Given the description of an element on the screen output the (x, y) to click on. 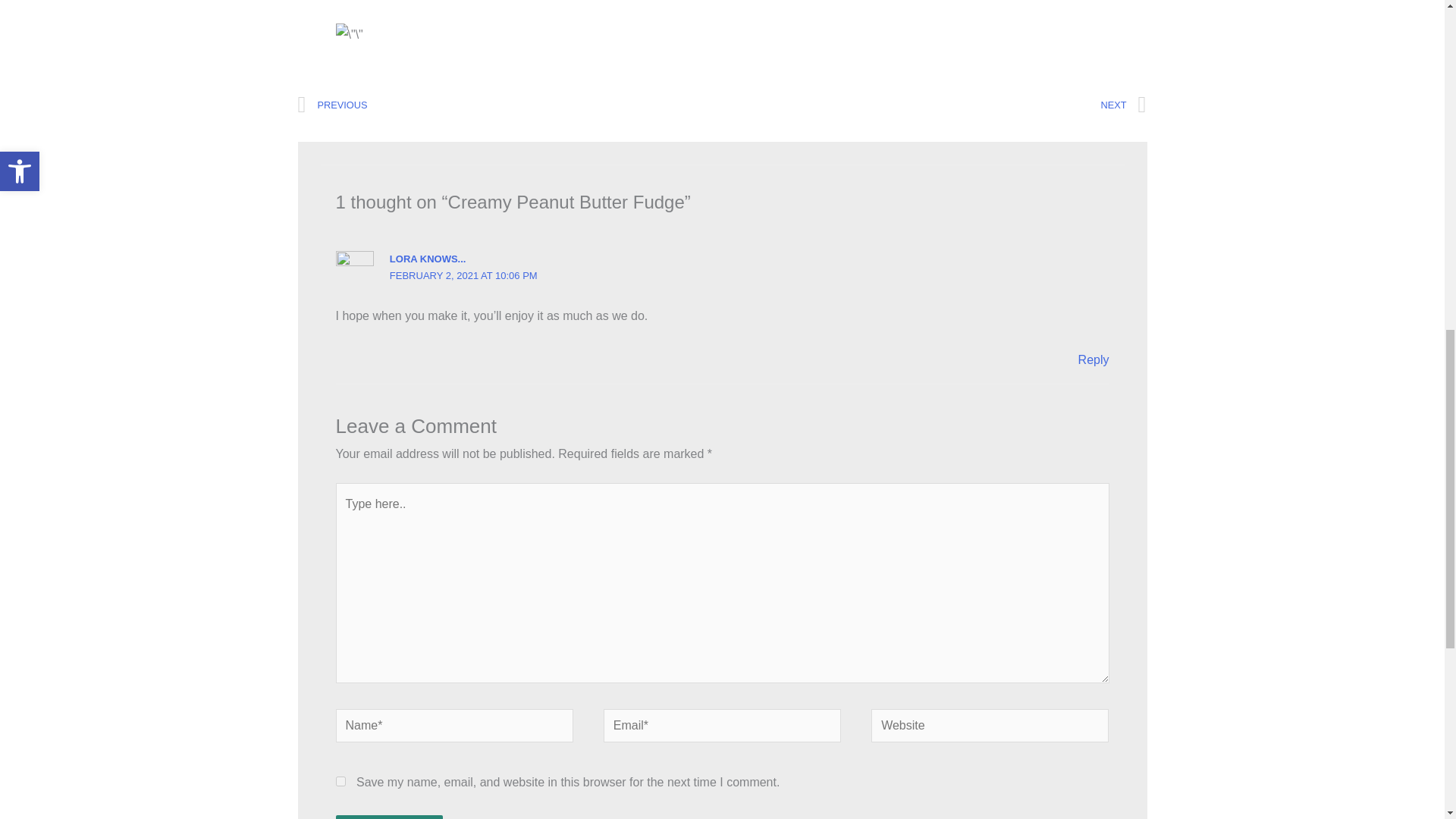
LORA KNOWS... (427, 258)
Reply (1093, 359)
yes (339, 781)
FEBRUARY 2, 2021 AT 10:06 PM (463, 275)
PREVIOUS (509, 105)
NEXT (934, 105)
